Given the description of an element on the screen output the (x, y) to click on. 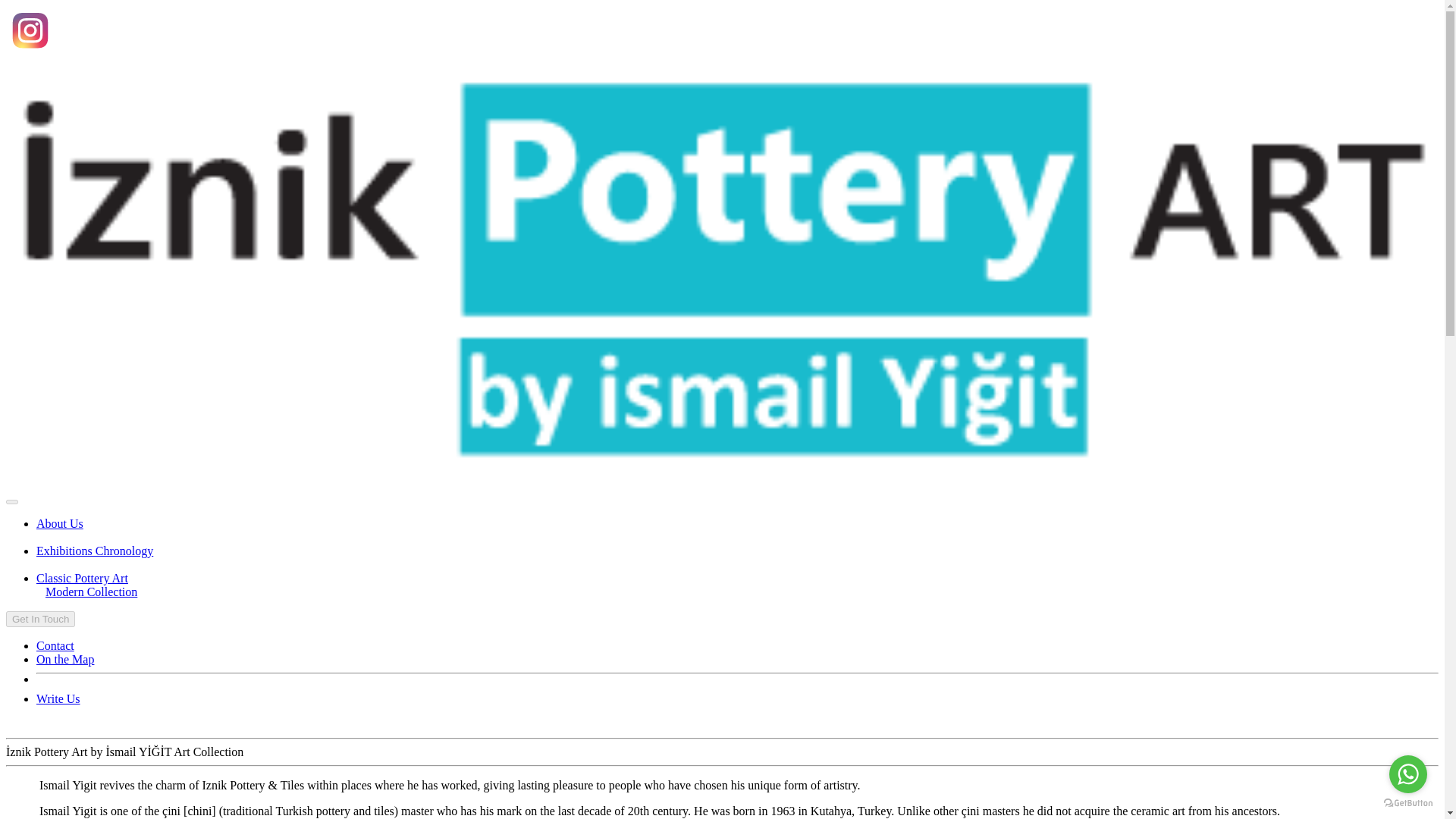
About Us (59, 522)
Get In Touch (40, 618)
Modern Collection (90, 591)
Classic Pottery Art (82, 577)
Contact (55, 645)
Exhibitions Chronology (94, 550)
On the Map (65, 658)
Write Us (58, 698)
